Given the description of an element on the screen output the (x, y) to click on. 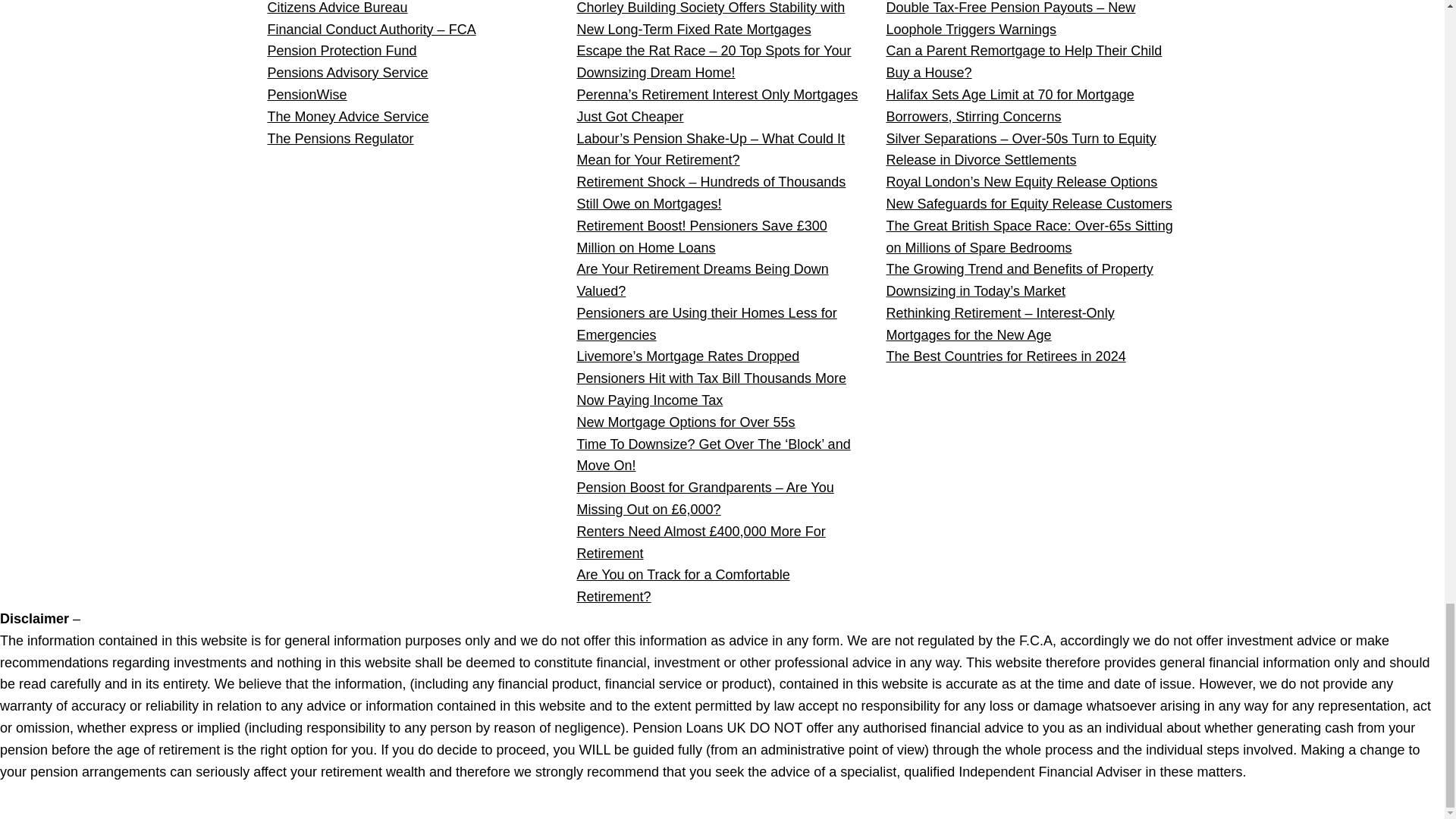
PensionWise (306, 94)
Are You on Track for a Comfortable Retirement? (682, 585)
Are Your Retirement Dreams Being Down Valued? (702, 279)
The Pensions Regulator (339, 138)
The Best Countries for Retirees in 2024 (1005, 355)
Citizens Advice Bureau (336, 7)
New Mortgage Options for Over 55s (685, 421)
Pensions Advisory Service (347, 72)
Can a Parent Remortgage to Help Their Child Buy a House? (1023, 61)
The Money Advice Service (347, 116)
Pension Protection Fund (341, 50)
